Given the description of an element on the screen output the (x, y) to click on. 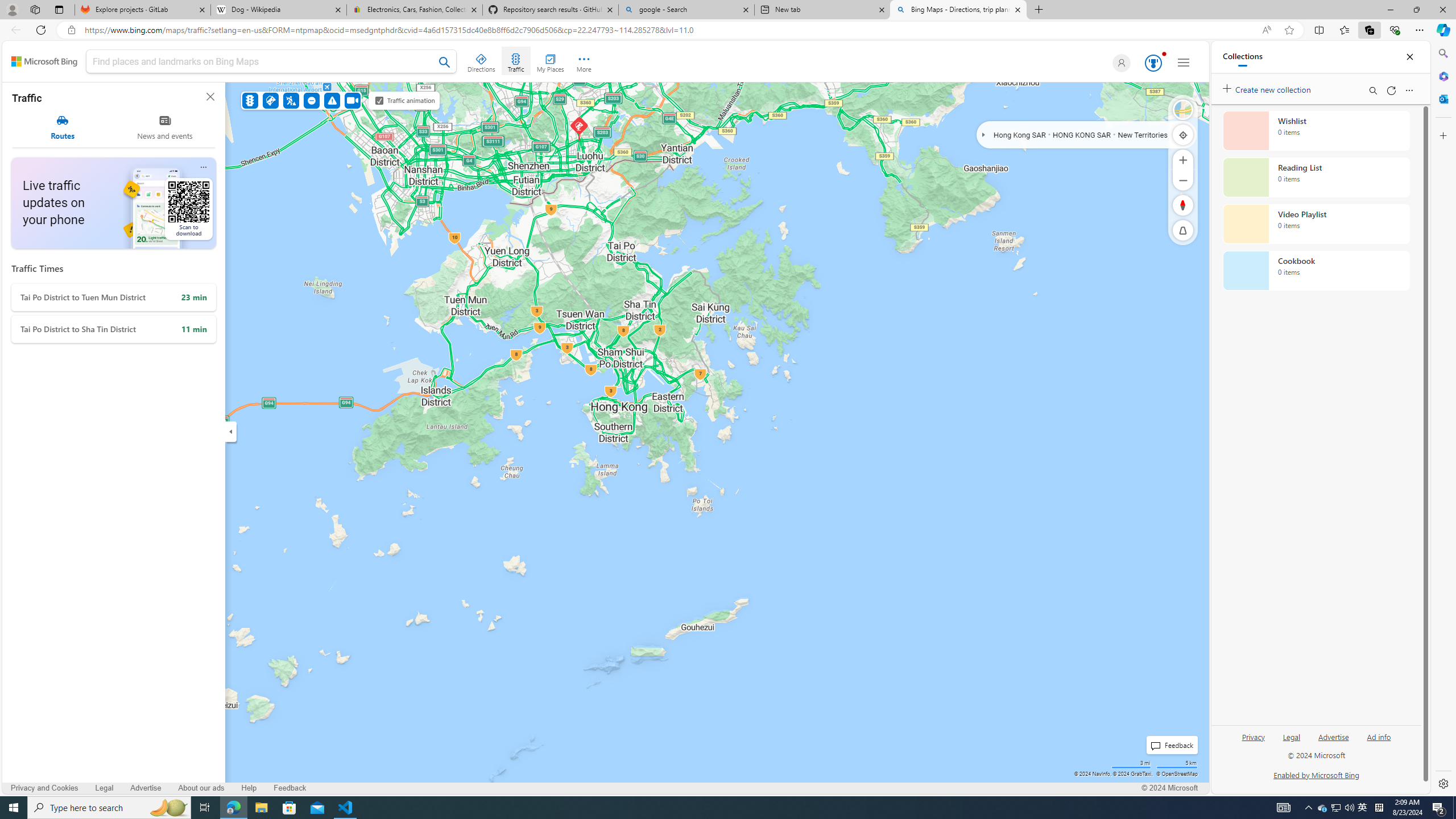
Feedback (289, 787)
Construction (290, 100)
Advertise (1333, 741)
Traffic (249, 100)
Privacy (1252, 741)
Zoom Out (1182, 180)
Road Closures (312, 100)
Default Profile Picture (1119, 62)
Select Style (1182, 109)
Add a search (263, 60)
